Given the description of an element on the screen output the (x, y) to click on. 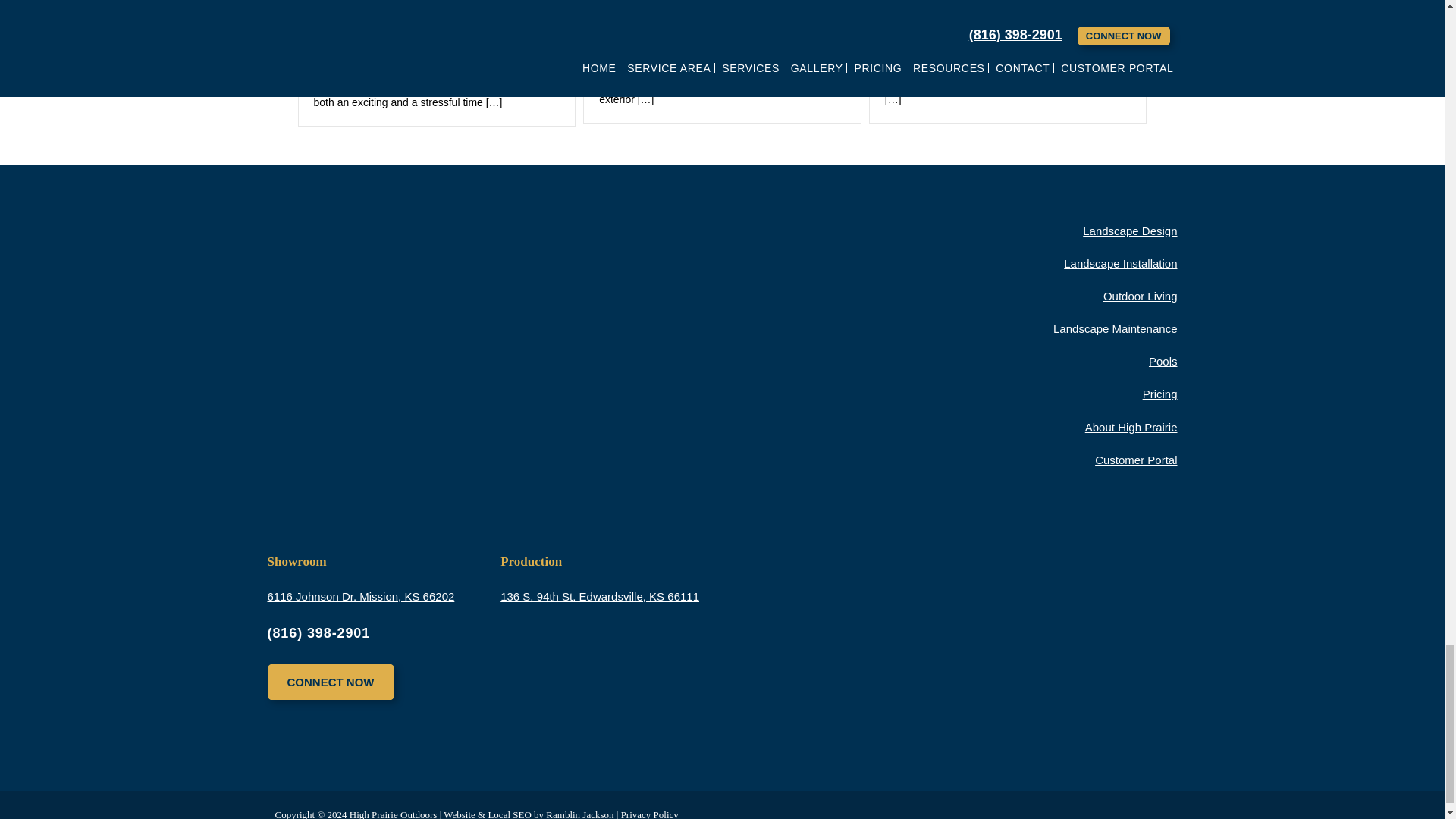
What is Hardscape Cleaning and Servicing? (986, 12)
